Given the description of an element on the screen output the (x, y) to click on. 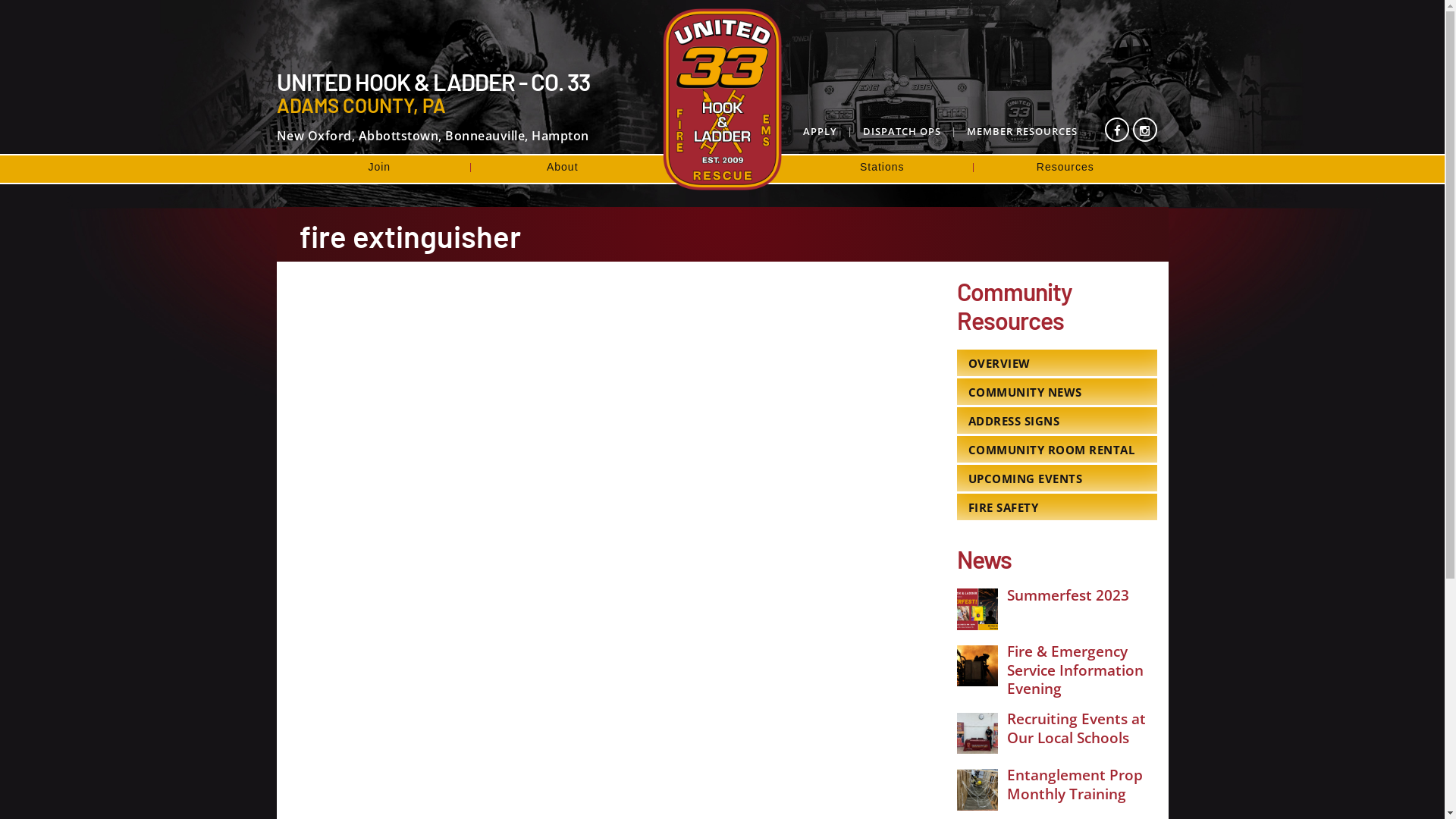
Entanglement Prop Monthly Training Element type: text (1074, 784)
Resources Element type: text (1065, 166)
DISPATCH OPS Element type: text (889, 131)
OVERVIEW Element type: text (1057, 362)
Fire & Emergency Service Information Evening Element type: text (1075, 669)
ADDRESS SIGNS Element type: text (1057, 420)
Summerfest 2023 Element type: text (1068, 595)
MEMBER RESOURCES Element type: text (1008, 131)
Join Element type: text (379, 166)
COMMUNITY ROOM RENTAL Element type: text (1057, 449)
About Element type: text (562, 166)
Recruiting Events at Our Local Schools Element type: text (1076, 728)
APPLY Element type: text (815, 131)
FIRE SAFETY Element type: text (1057, 506)
COMMUNITY NEWS Element type: text (1057, 391)
UPCOMING EVENTS Element type: text (1057, 477)
Stations Element type: text (881, 166)
